Given the description of an element on the screen output the (x, y) to click on. 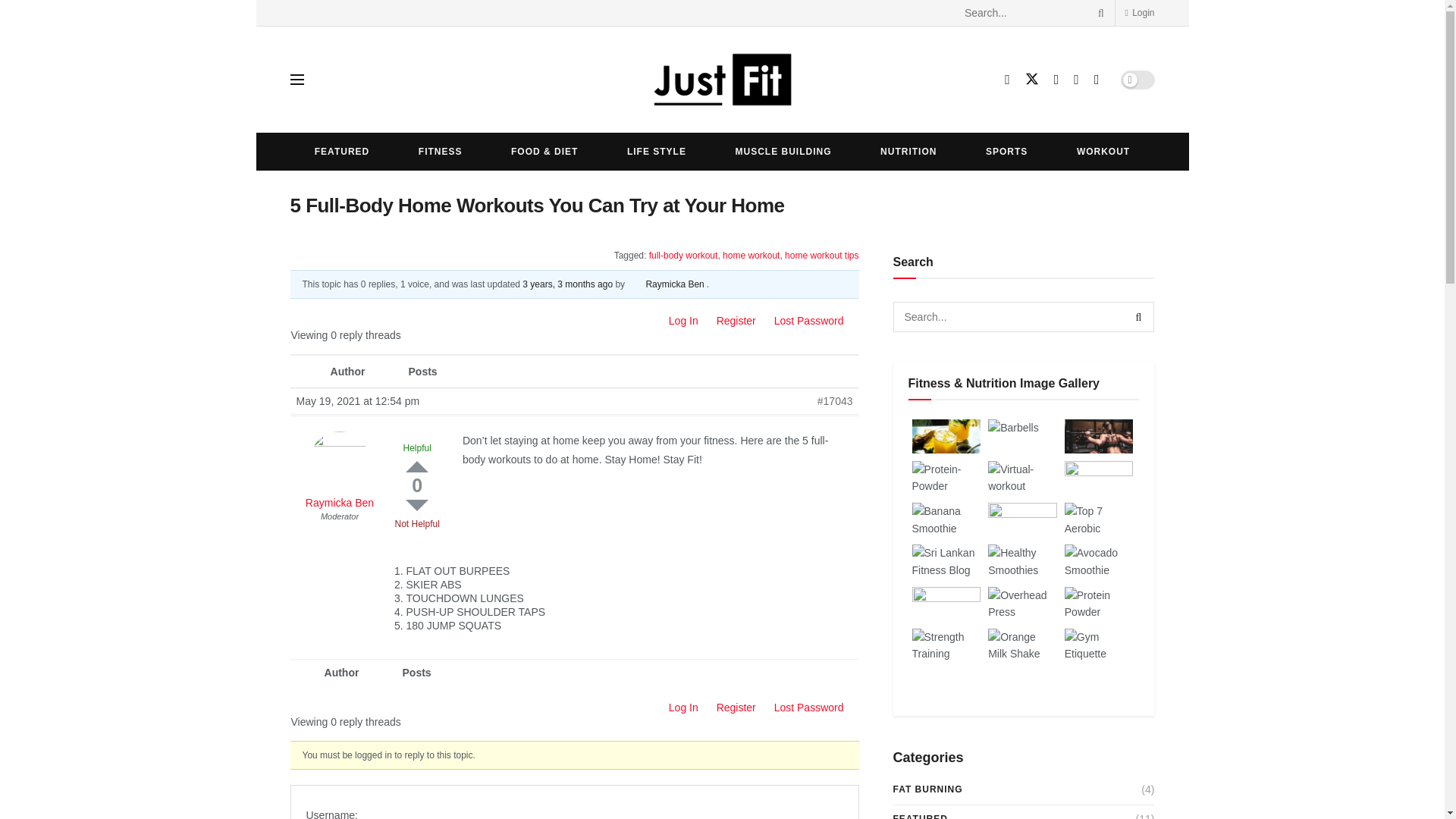
Login (1139, 12)
View Raymicka Ben's profile (338, 480)
WORKOUT (1103, 151)
full-body workout (683, 255)
FEATURED (341, 151)
home workout (750, 255)
NUTRITION (908, 151)
Log In (683, 320)
5 Full-Body Home Workouts You Can Try at Your Home (567, 284)
LIFE STYLE (656, 151)
